Given the description of an element on the screen output the (x, y) to click on. 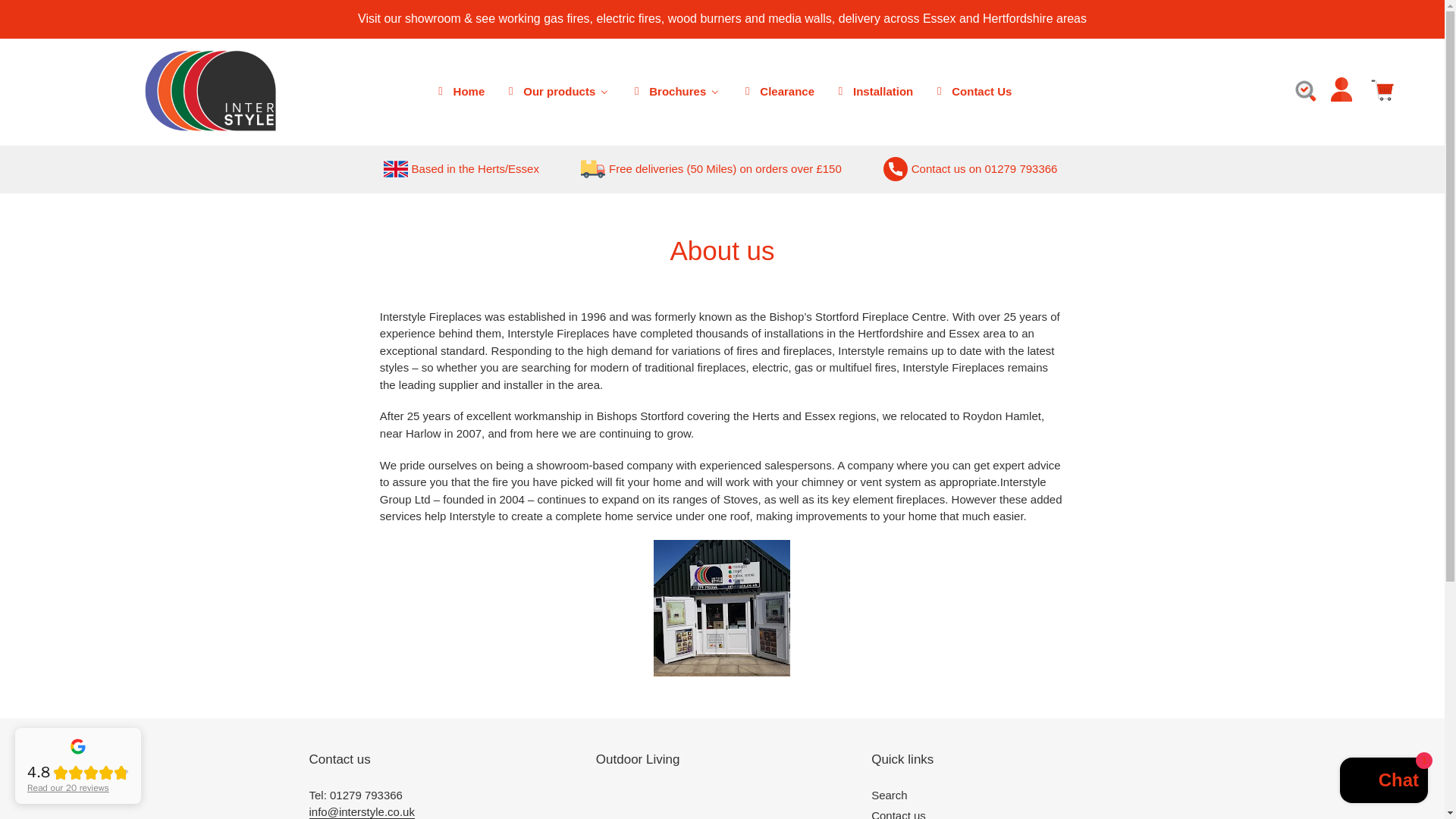
Home (459, 91)
Our products (556, 91)
